Given the description of an element on the screen output the (x, y) to click on. 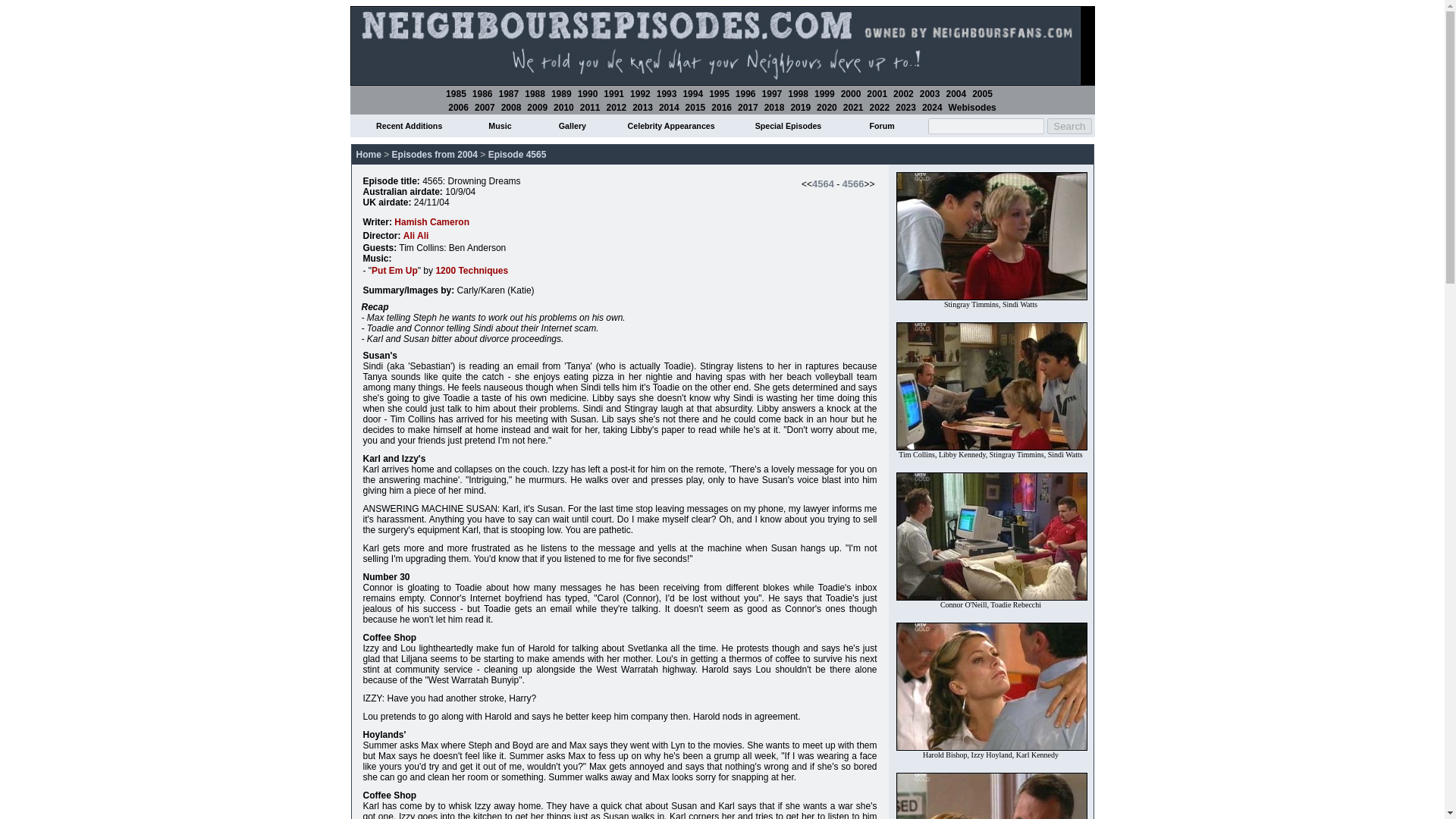
1992 (640, 93)
2022 (879, 107)
2013 (641, 107)
2021 (853, 107)
2019 (800, 107)
1998 (797, 93)
1985 (455, 93)
1988 (534, 93)
1993 (666, 93)
2004 (955, 93)
2005 (982, 93)
2008 (510, 107)
1990 (588, 93)
2012 (615, 107)
1994 (692, 93)
